Given the description of an element on the screen output the (x, y) to click on. 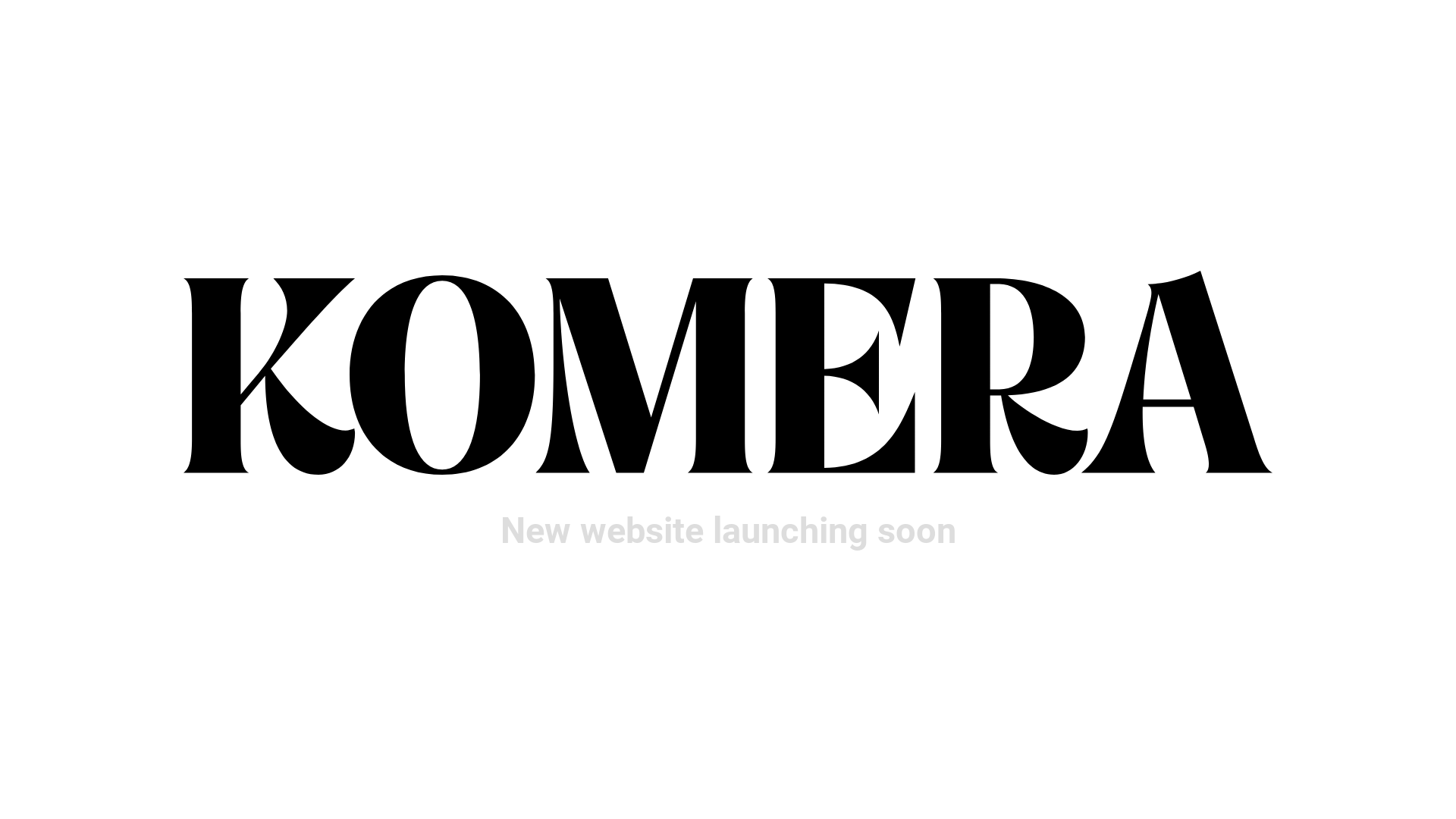
komera_logo - Komera Group - Komera Group Element type: hover (727, 372)
